Given the description of an element on the screen output the (x, y) to click on. 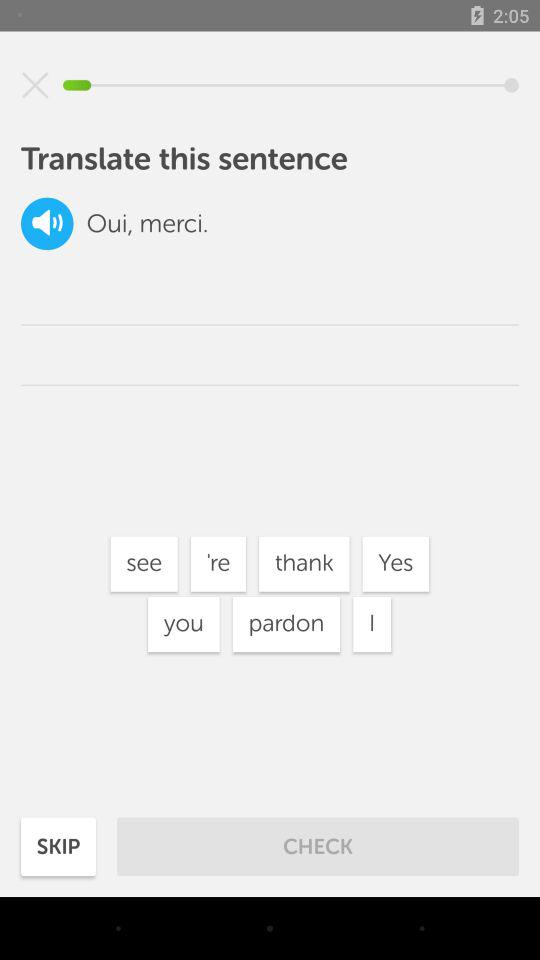
close sound (35, 85)
